Given the description of an element on the screen output the (x, y) to click on. 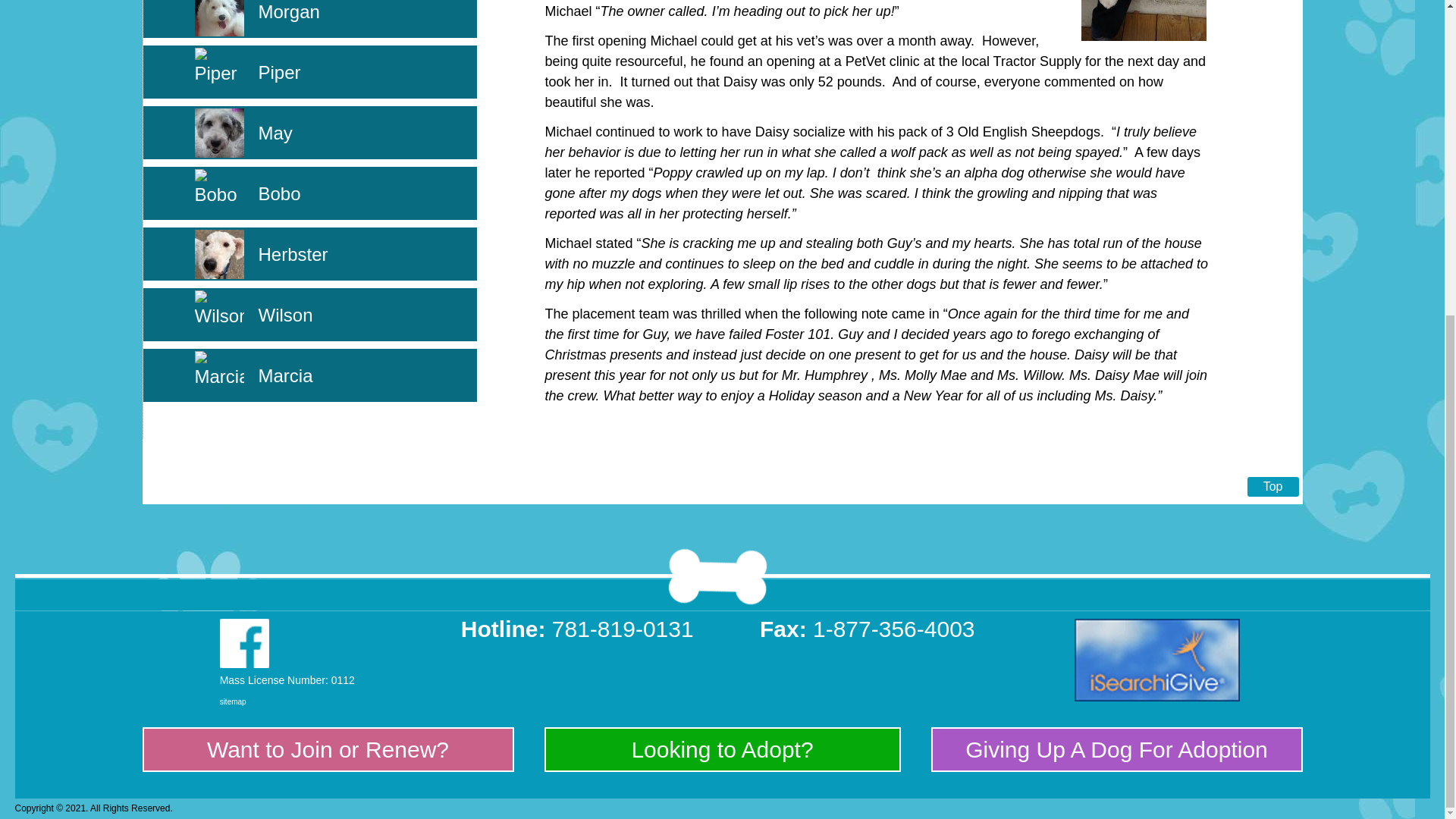
Morgan (287, 11)
Bobo (278, 193)
Herbster (292, 254)
Top (1272, 486)
Wilson (285, 314)
sitemap (232, 701)
Marcia (285, 375)
Piper (278, 72)
May (274, 132)
